Given the description of an element on the screen output the (x, y) to click on. 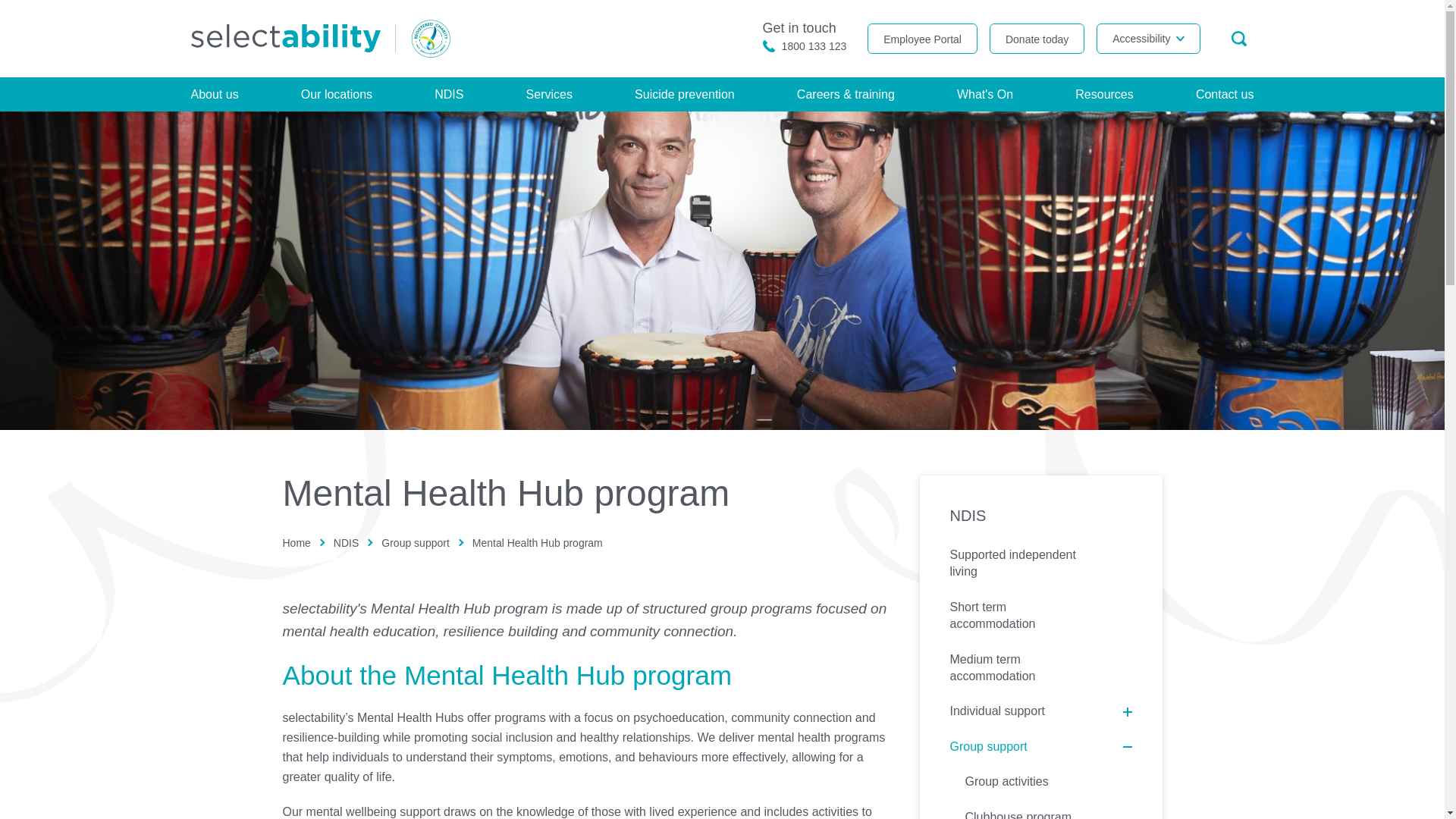
Accessibility (1147, 38)
About us (214, 93)
About us (214, 93)
Donate today (1037, 38)
Our locations (336, 93)
Employee Portal (804, 36)
Our locations (921, 38)
